Given the description of an element on the screen output the (x, y) to click on. 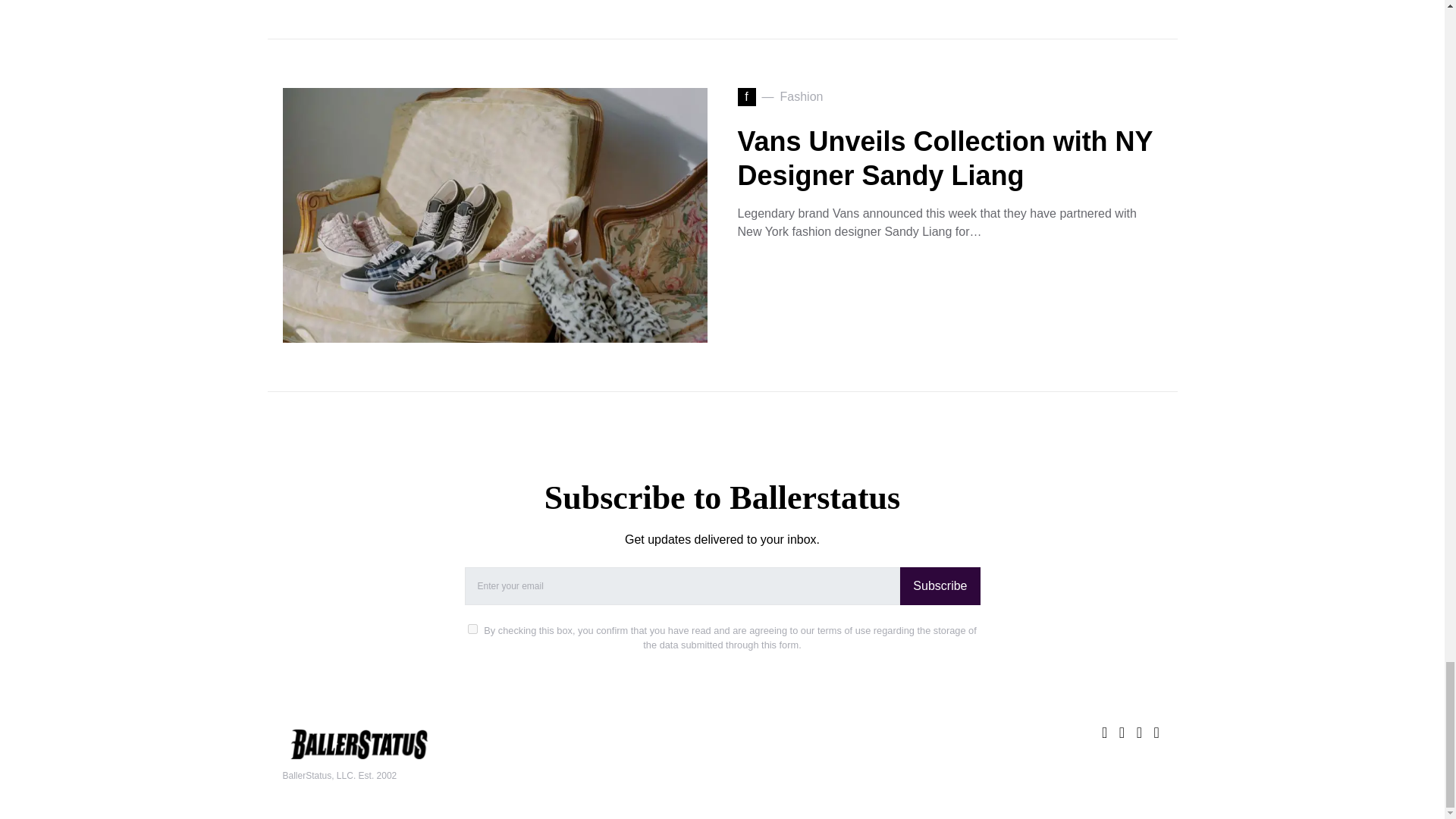
on (472, 628)
